Given the description of an element on the screen output the (x, y) to click on. 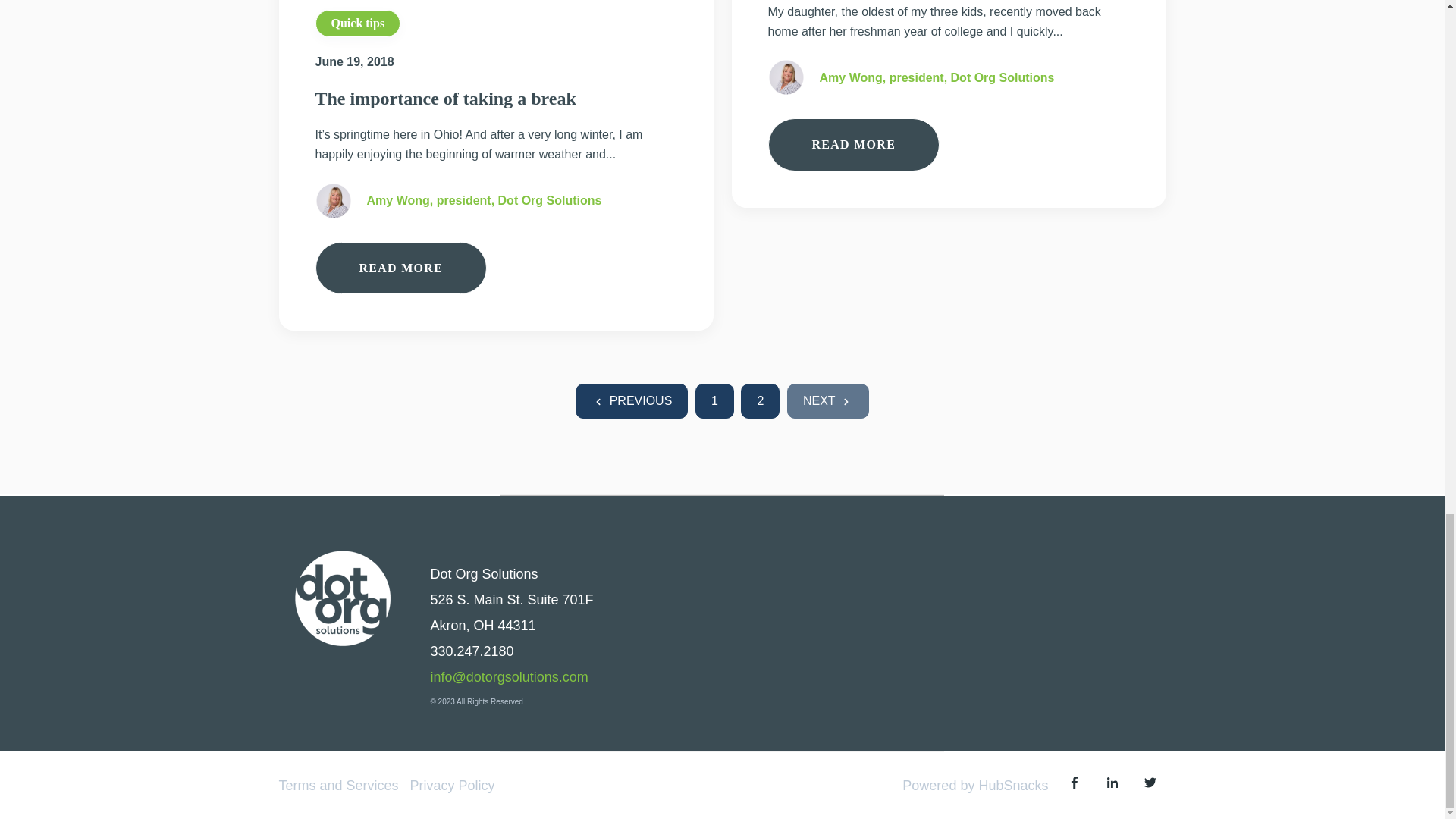
The importance of taking a break (445, 98)
READ MORE (401, 267)
Quick tips (358, 22)
